Given the description of an element on the screen output the (x, y) to click on. 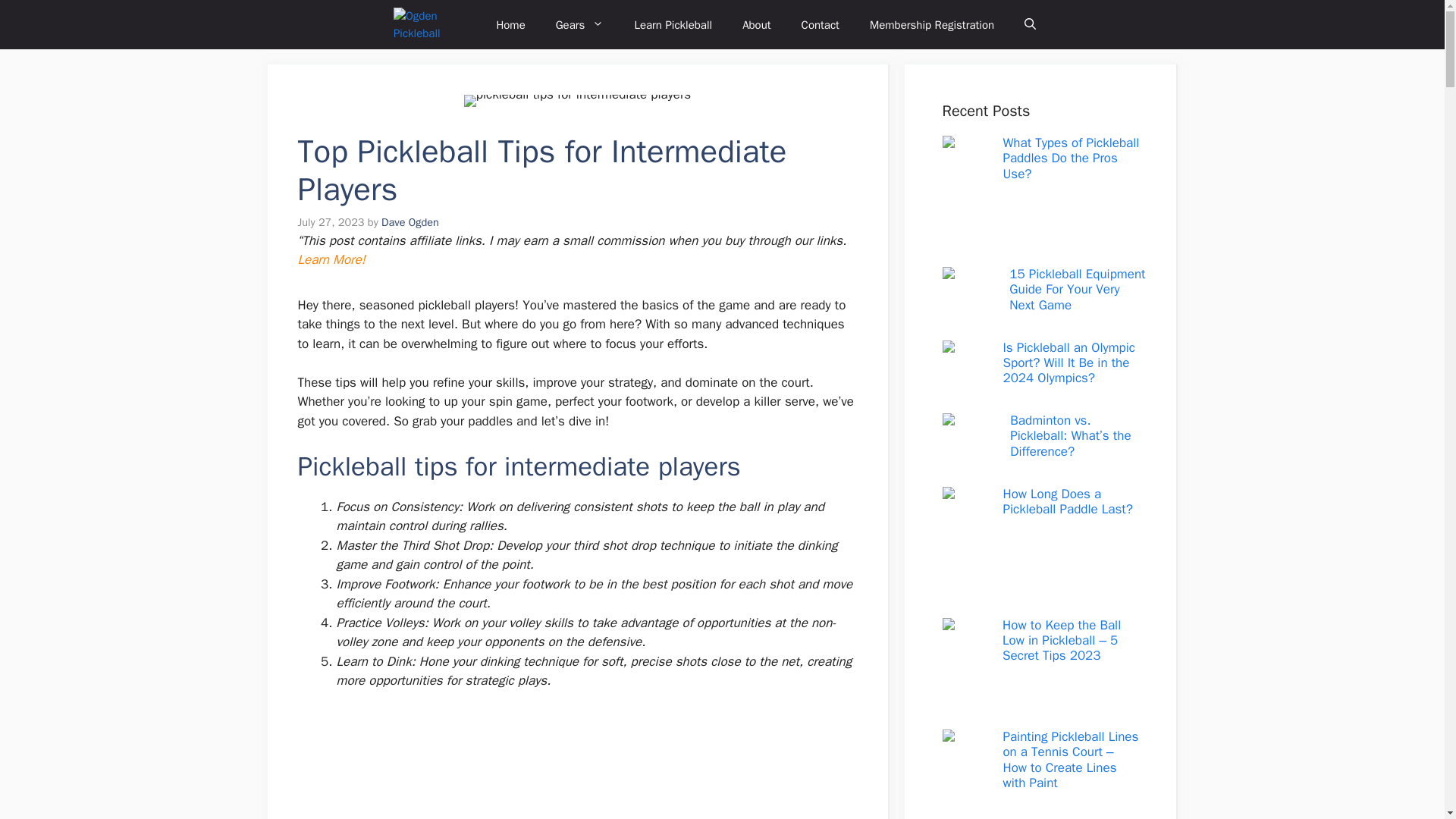
Gears (580, 23)
Contact (820, 23)
Home (510, 23)
How Long Does a Pickleball Paddle Last? (1067, 500)
Learn More! (331, 259)
Learn Pickleball (672, 23)
About (756, 23)
Ogden Pickleball Association (433, 24)
Membership Registration (931, 23)
